Given the description of an element on the screen output the (x, y) to click on. 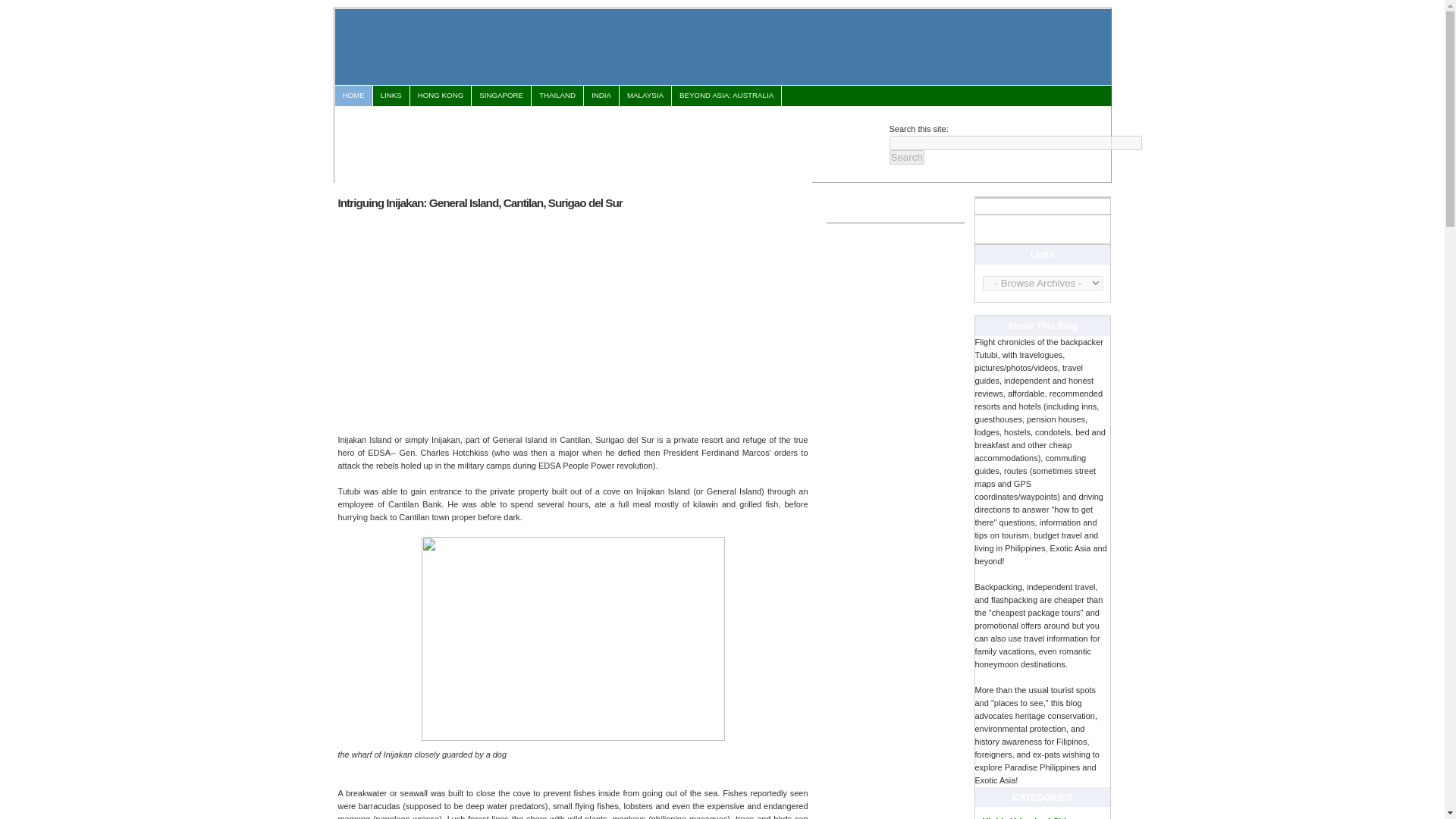
Advertisement (466, 320)
HONG KONG (440, 95)
MALAYSIA (645, 95)
SINGAPORE (501, 95)
Advertisement (610, 141)
Search (905, 156)
THAILAND (557, 95)
BEYOND ASIA: AUSTRALIA (725, 95)
HOME (353, 95)
INDIA (600, 95)
Highly Urbanized Cities (1028, 817)
Search (905, 156)
LINKS (390, 95)
